Given the description of an element on the screen output the (x, y) to click on. 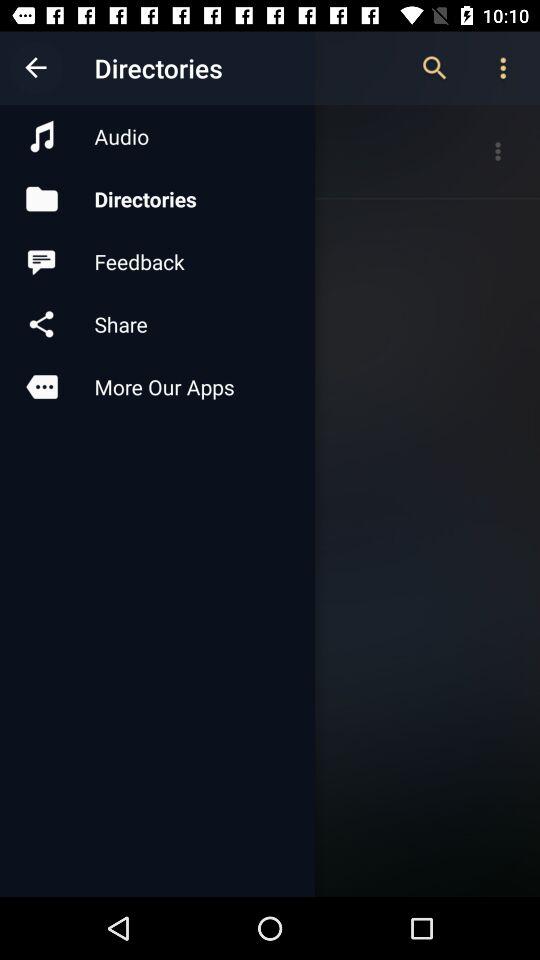
select the item above directories (157, 136)
